Given the description of an element on the screen output the (x, y) to click on. 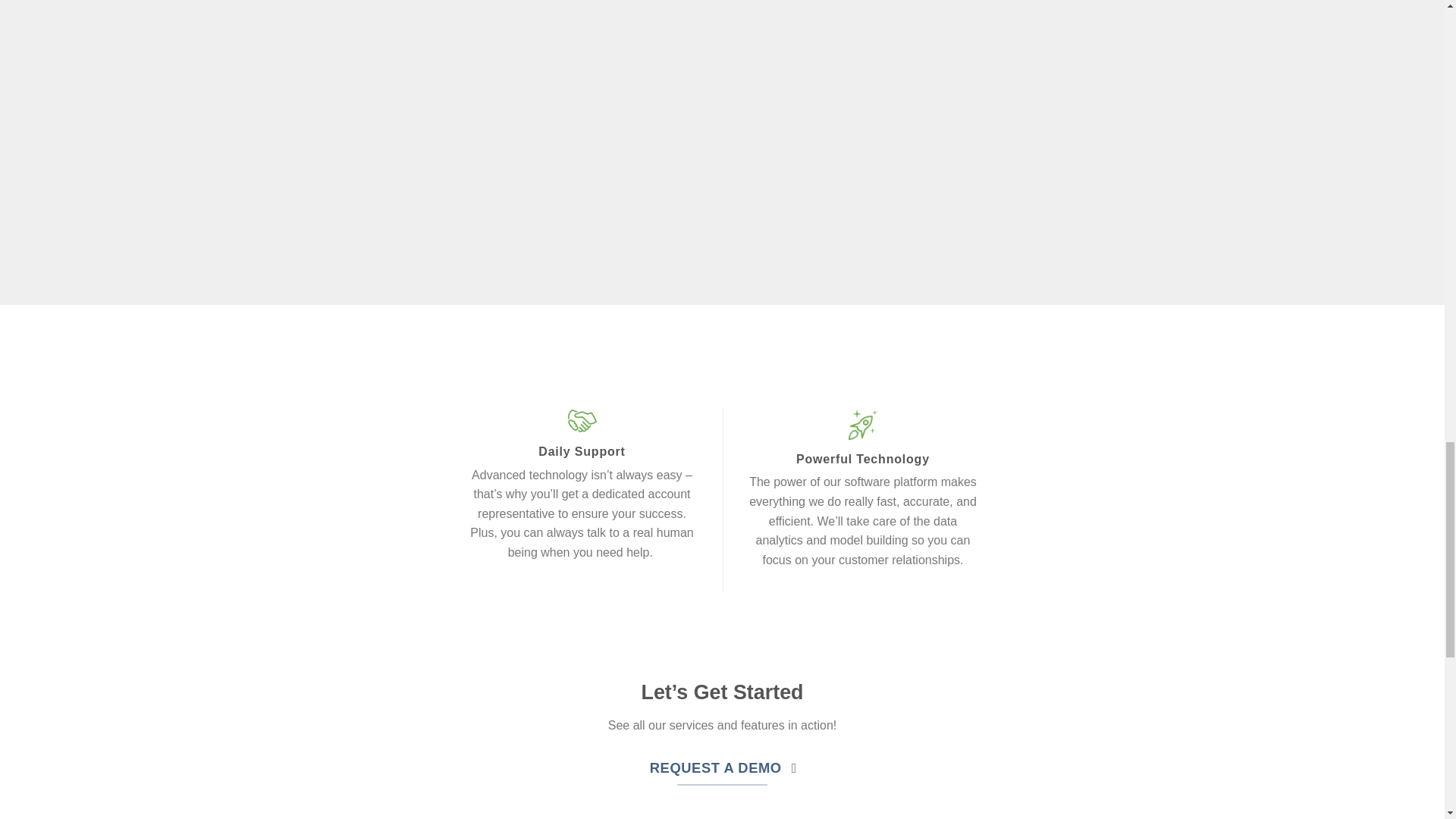
REQUEST A DEMO (721, 768)
